Given the description of an element on the screen output the (x, y) to click on. 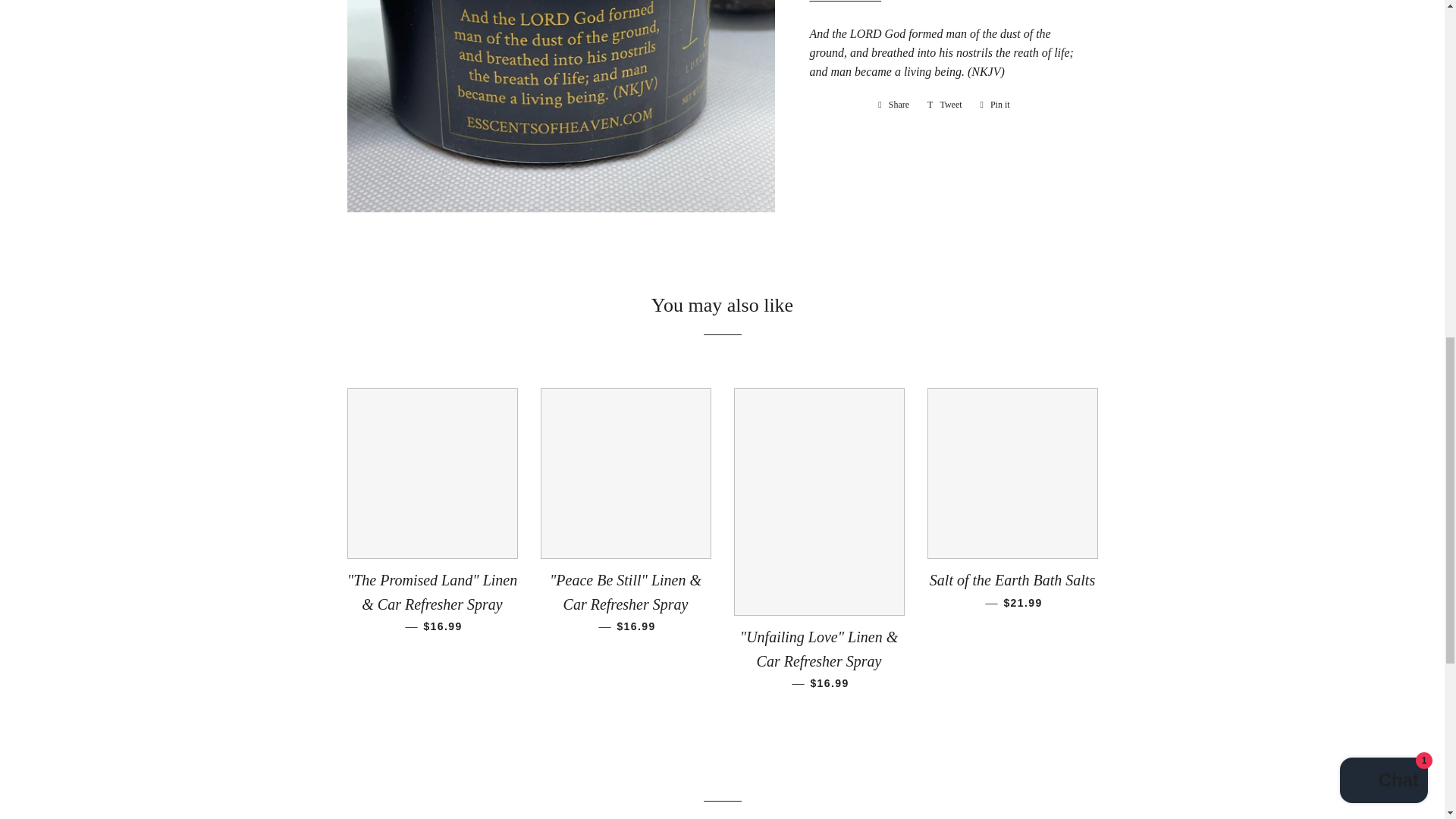
Pin on Pinterest (994, 104)
Share on Facebook (893, 104)
Tweet on Twitter (944, 104)
